Given the description of an element on the screen output the (x, y) to click on. 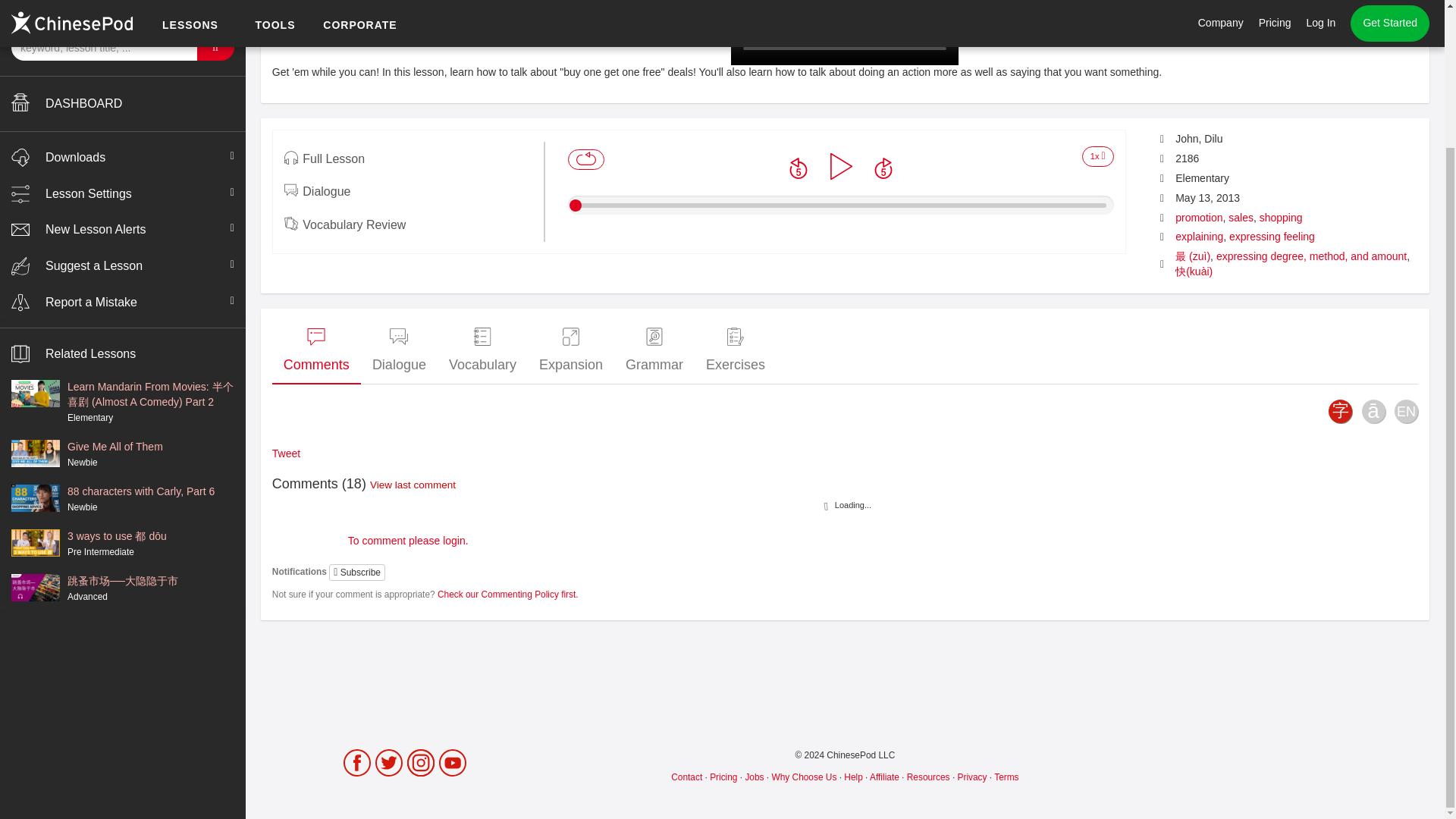
Exercises (735, 352)
Comments (316, 352)
Vocabulary (482, 352)
DASHBOARD (123, 103)
Expansion (570, 352)
Grammar (654, 352)
Increase Rate (1097, 156)
Loop (585, 159)
Dialogue (399, 352)
